Given the description of an element on the screen output the (x, y) to click on. 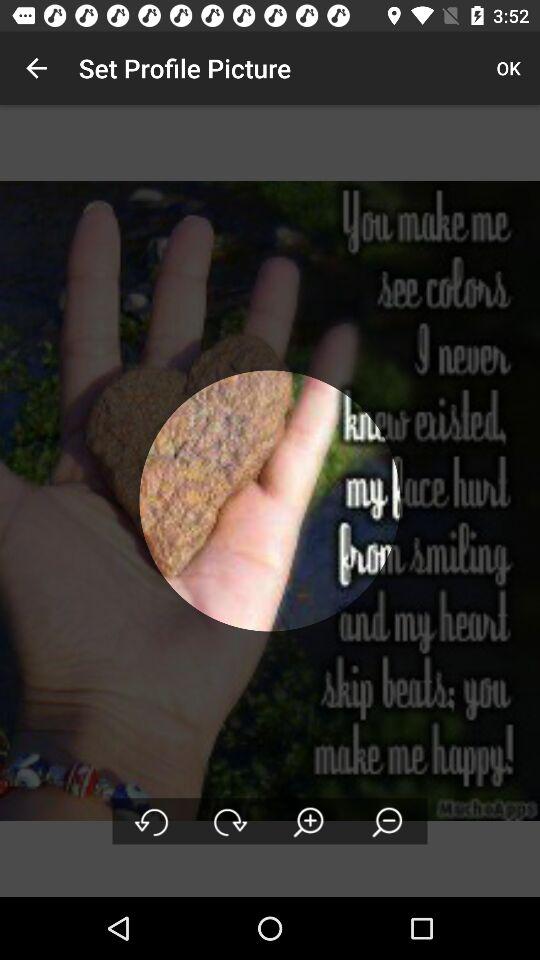
open icon at the top left corner (36, 68)
